Given the description of an element on the screen output the (x, y) to click on. 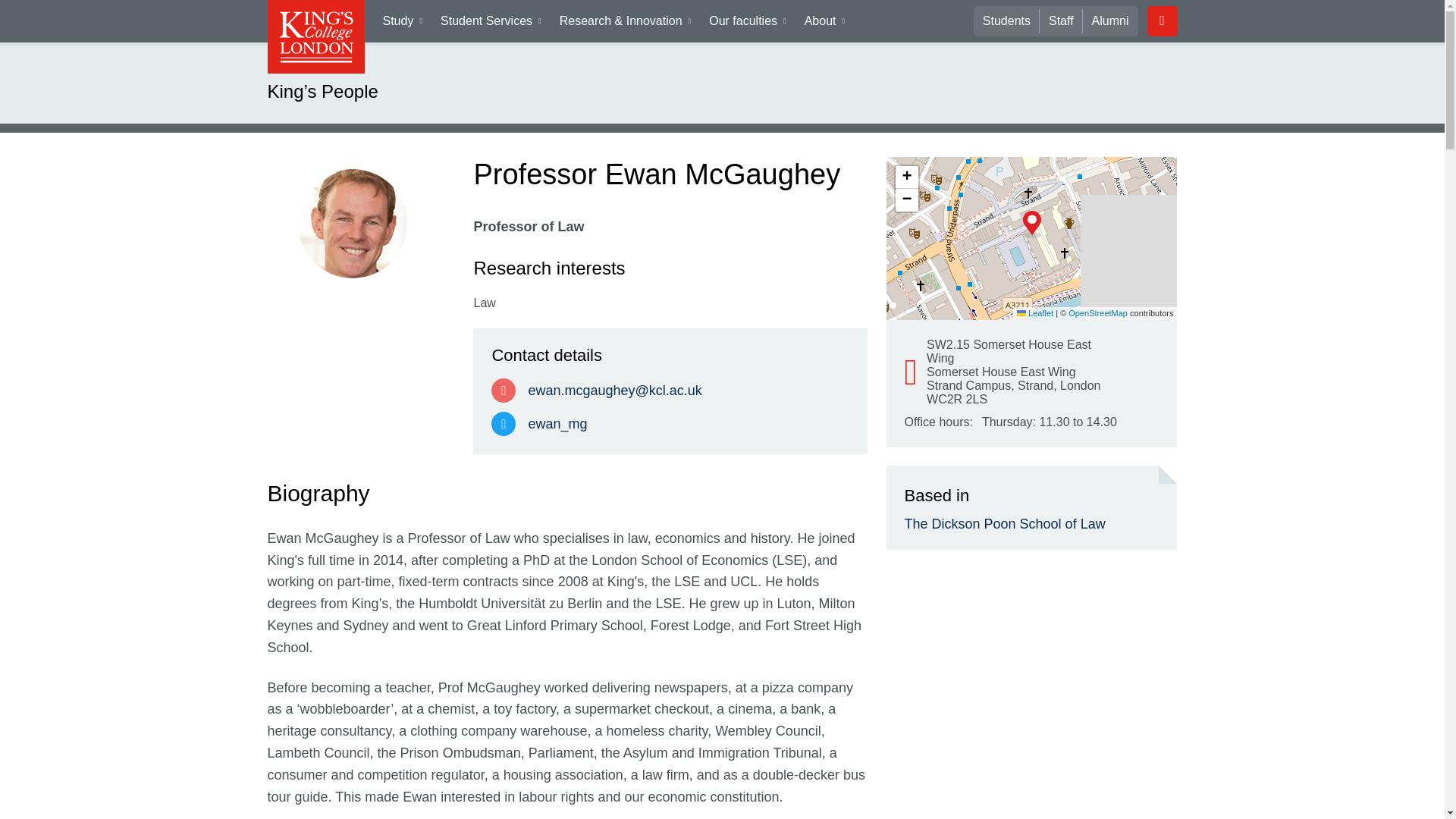
Zoom out (906, 200)
Zoom in (906, 177)
A JavaScript library for interactive maps (1034, 312)
